Given the description of an element on the screen output the (x, y) to click on. 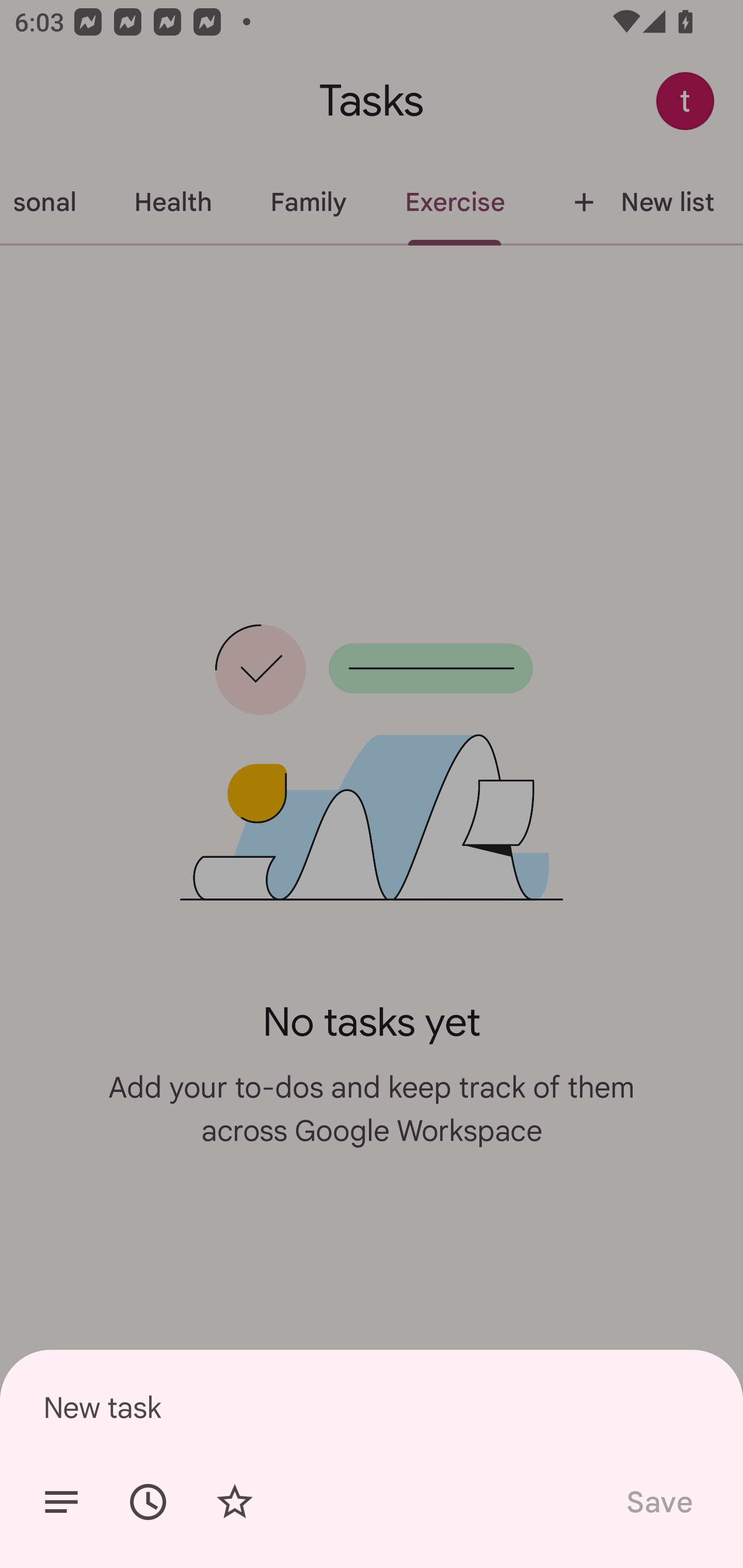
New task (371, 1407)
Save (659, 1501)
Add details (60, 1501)
Set date/time (147, 1501)
Add star (234, 1501)
